Given the description of an element on the screen output the (x, y) to click on. 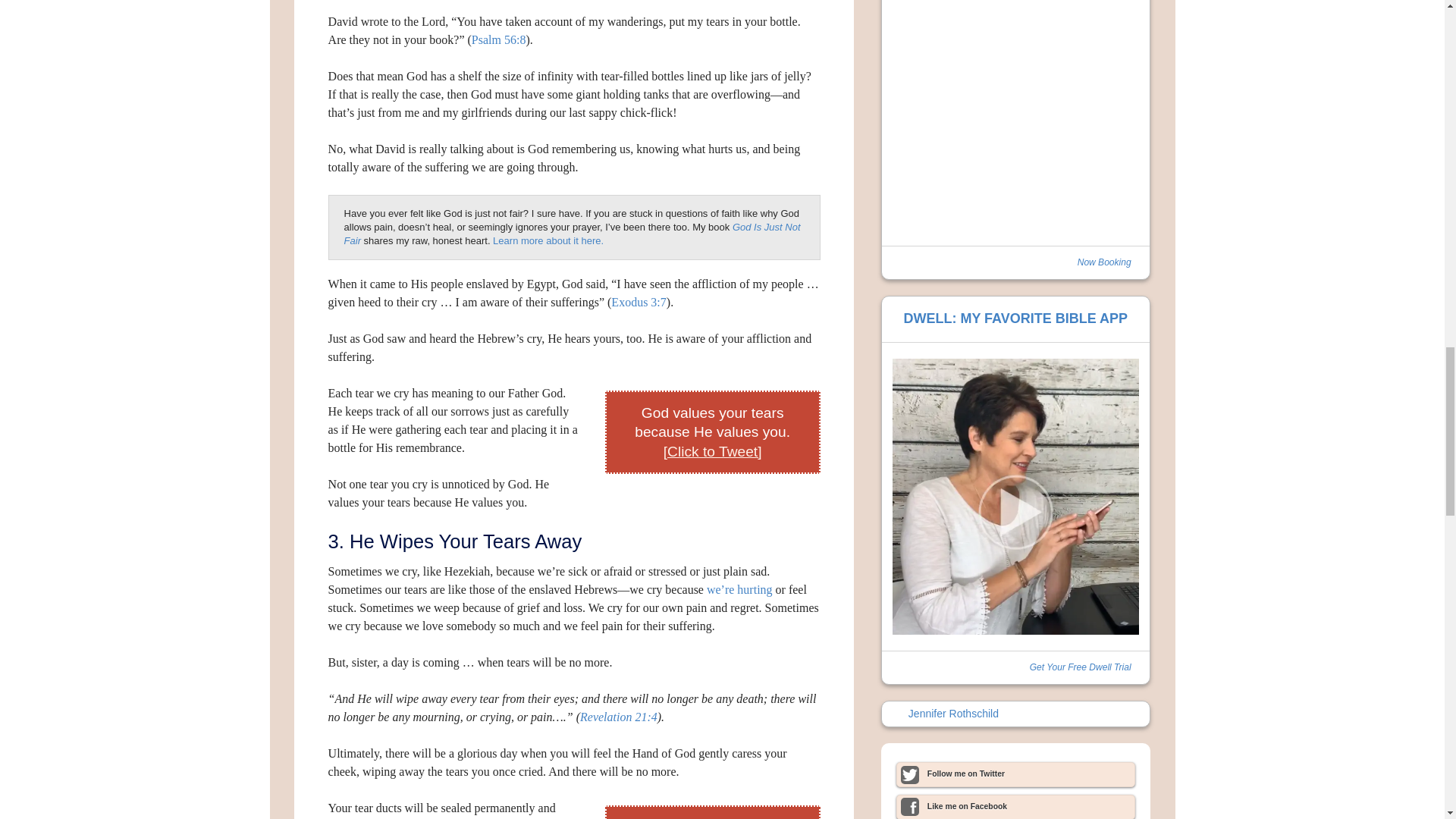
Psalm 56:8 (498, 39)
Exodus 3:7 (638, 301)
God Is Just Not Fair (571, 233)
Learn more about it here. (548, 240)
